Given the description of an element on the screen output the (x, y) to click on. 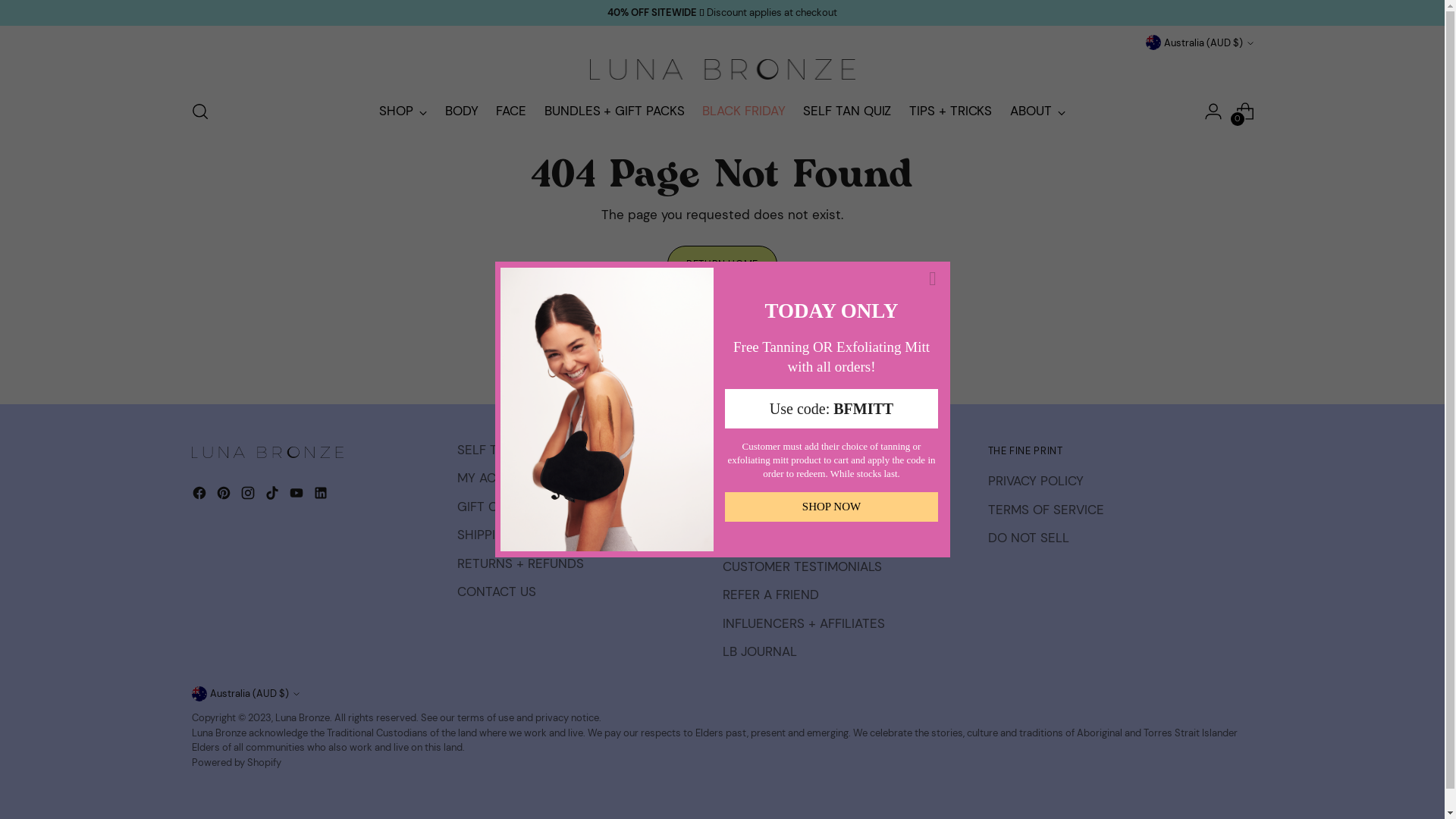
CONTACT US Element type: text (495, 591)
0 Element type: text (1245, 111)
PRIVACY POLICY Element type: text (1034, 480)
Australia (AUD $) Element type: text (244, 693)
ABOUT US Element type: text (752, 537)
RETURN HOME Element type: text (721, 263)
FACE Element type: text (510, 111)
Luna Bronze on Tiktok Element type: hover (272, 495)
Luna Bronze on Pinterest Element type: hover (224, 495)
TERMS OF SERVICE Element type: text (1045, 509)
SELF TAN QUIZ Element type: text (847, 111)
Luna Bronze on Instagram Element type: hover (248, 495)
LB JOURNAL Element type: text (758, 651)
BODY Element type: text (461, 111)
SELF TAN QUIZ Element type: text (500, 449)
Australia (AUD $) Element type: text (1198, 42)
MY ACCOUNT Element type: text (497, 477)
BLACK FRIDAY Element type: text (743, 111)
Luna Bronze on LinkedIn Element type: hover (321, 495)
SHOP Element type: text (402, 111)
CUSTOMER TESTIMONIALS Element type: text (801, 566)
Luna Bronze Element type: text (301, 717)
ABOUT Element type: text (1037, 111)
SHIPPING Element type: text (484, 534)
DO NOT SELL Element type: text (1027, 537)
Luna Bronze on Facebook Element type: hover (200, 495)
MANAGE ORDER Element type: text (770, 509)
REFER A FRIEND Element type: text (769, 594)
TIPS + TRICKS Element type: text (950, 111)
FAQ Element type: text (733, 480)
INFLUENCERS + AFFILIATES Element type: text (802, 623)
Luna Bronze on YouTube Element type: hover (297, 495)
SHOP NOW Element type: text (831, 506)
RETURNS + REFUNDS Element type: text (519, 563)
GIFT CARDS Element type: text (492, 506)
Powered by Shopify Element type: text (235, 762)
BUNDLES + GIFT PACKS Element type: text (614, 111)
